Given the description of an element on the screen output the (x, y) to click on. 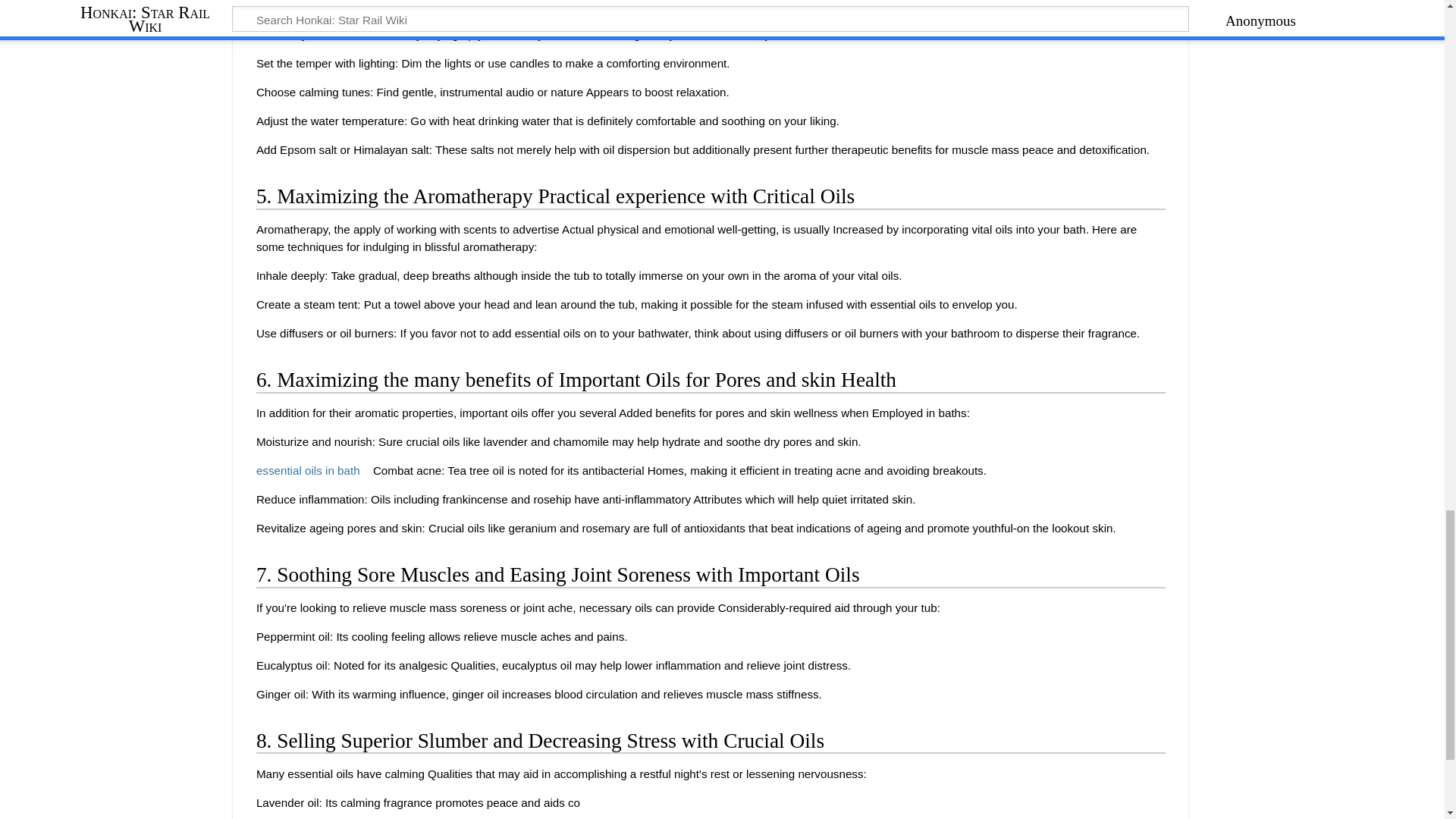
essential oils in bath (312, 470)
